Given the description of an element on the screen output the (x, y) to click on. 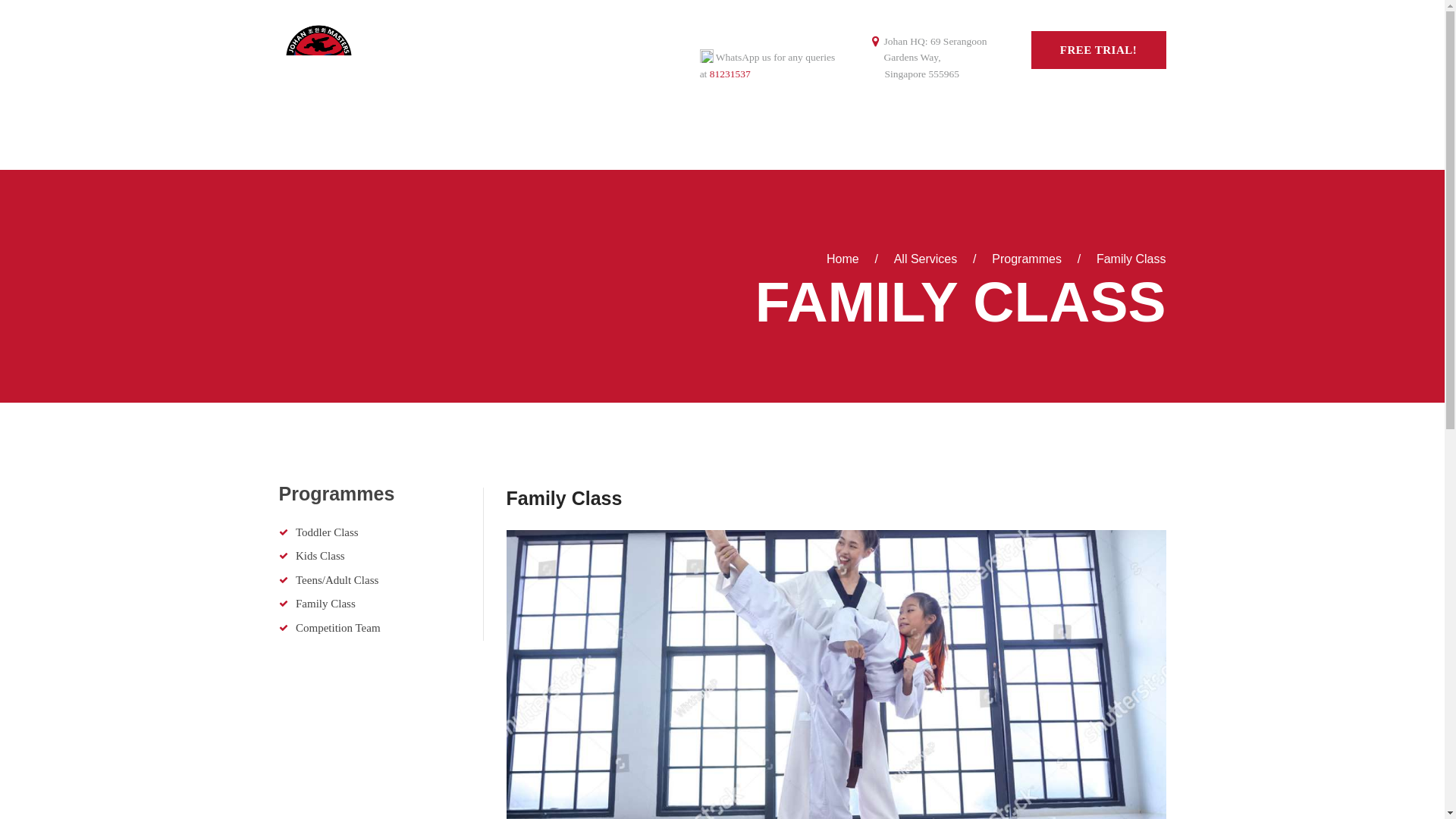
FREE TRIAL! (1098, 49)
81231537 (730, 73)
Home (843, 259)
All Services (925, 258)
Programmes (1026, 259)
